Given the description of an element on the screen output the (x, y) to click on. 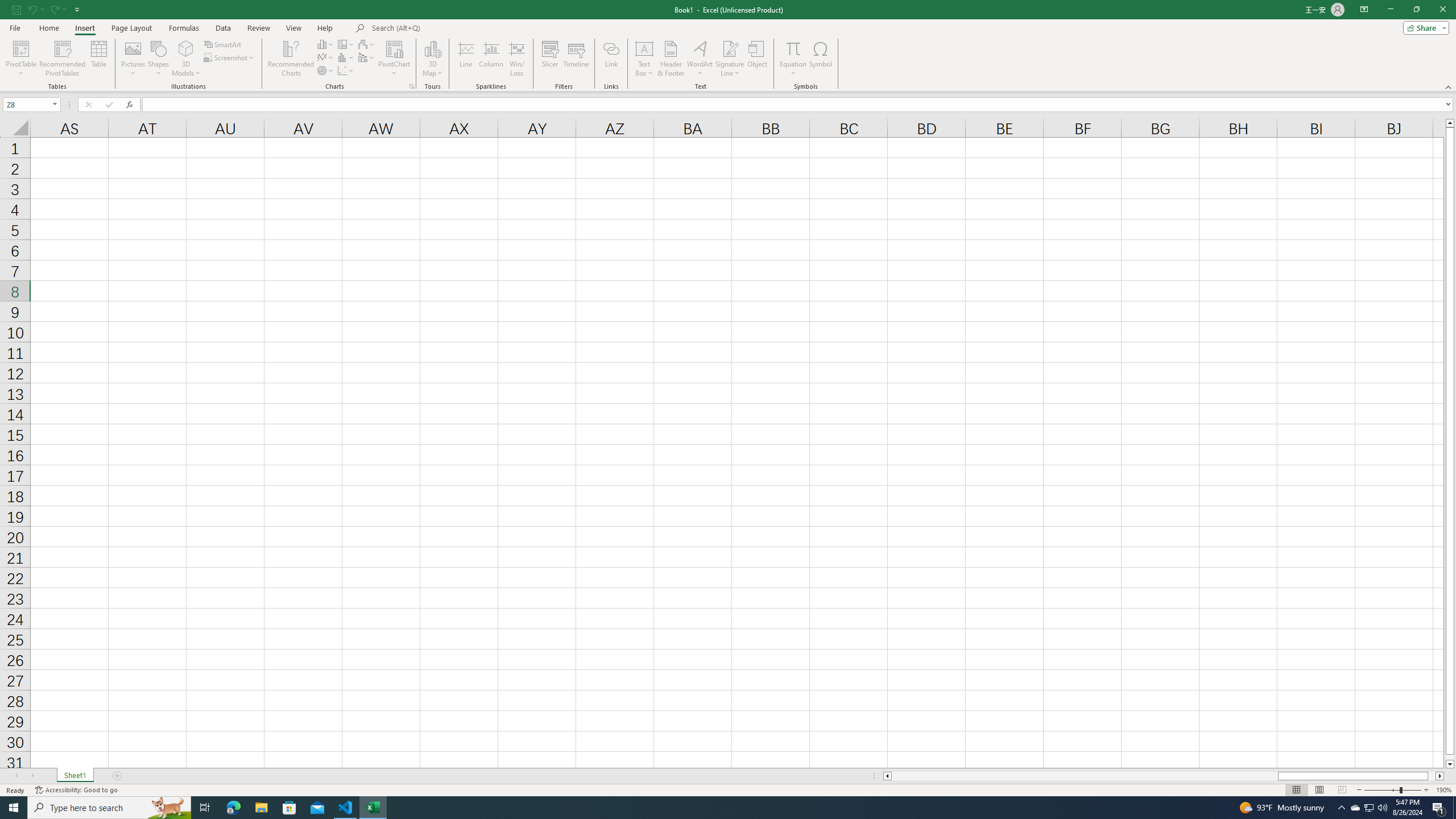
Header & Footer... (670, 58)
Insert Waterfall, Funnel, Stock, Surface, or Radar Chart (366, 44)
Class: MsoCommandBar (728, 45)
PivotTable (20, 58)
3D Map (432, 58)
Insert Line or Area Chart (325, 56)
